Given the description of an element on the screen output the (x, y) to click on. 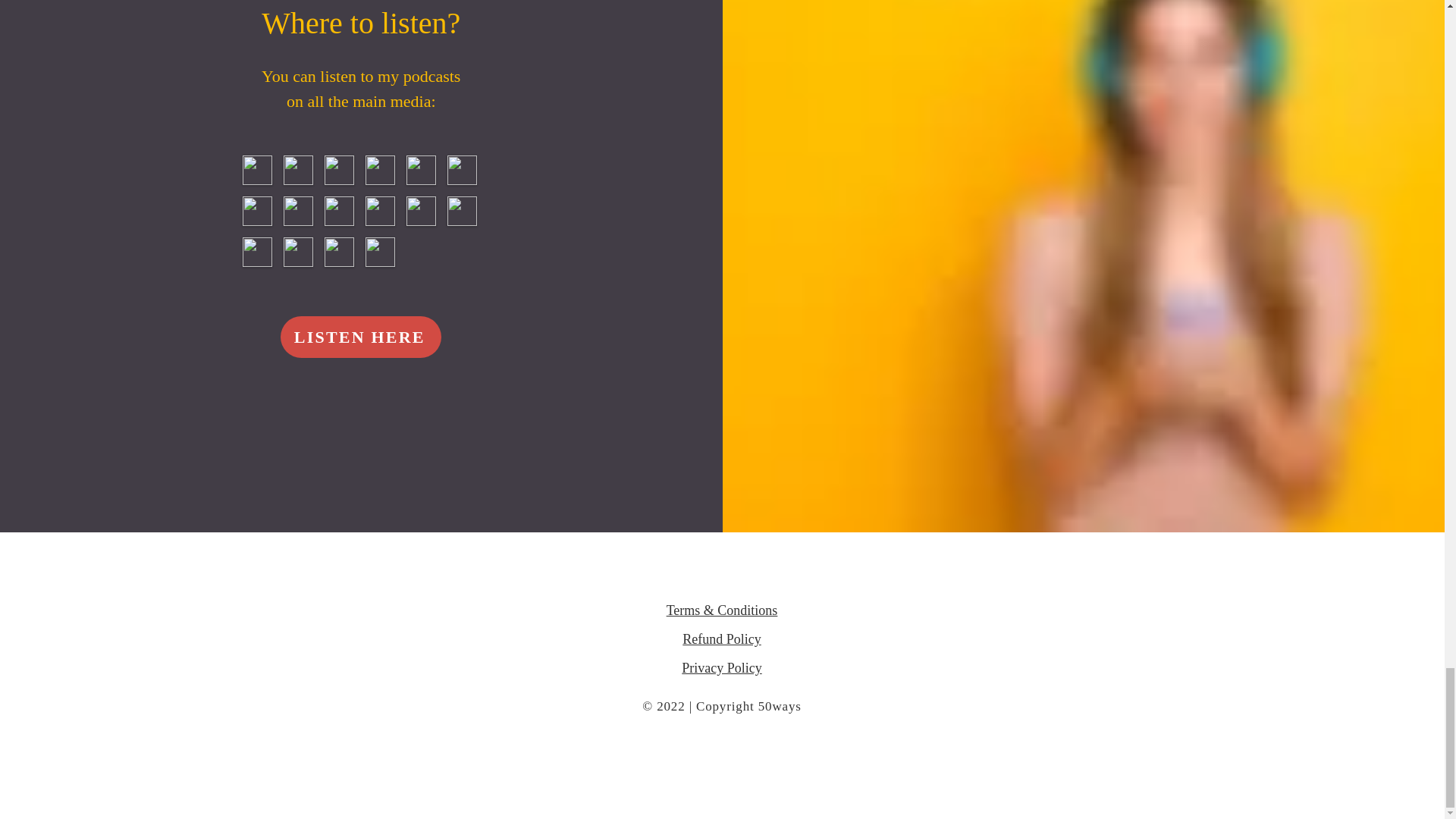
LISTEN HERE (361, 336)
Refund Policy (721, 639)
Privacy Policy (721, 667)
